Given the description of an element on the screen output the (x, y) to click on. 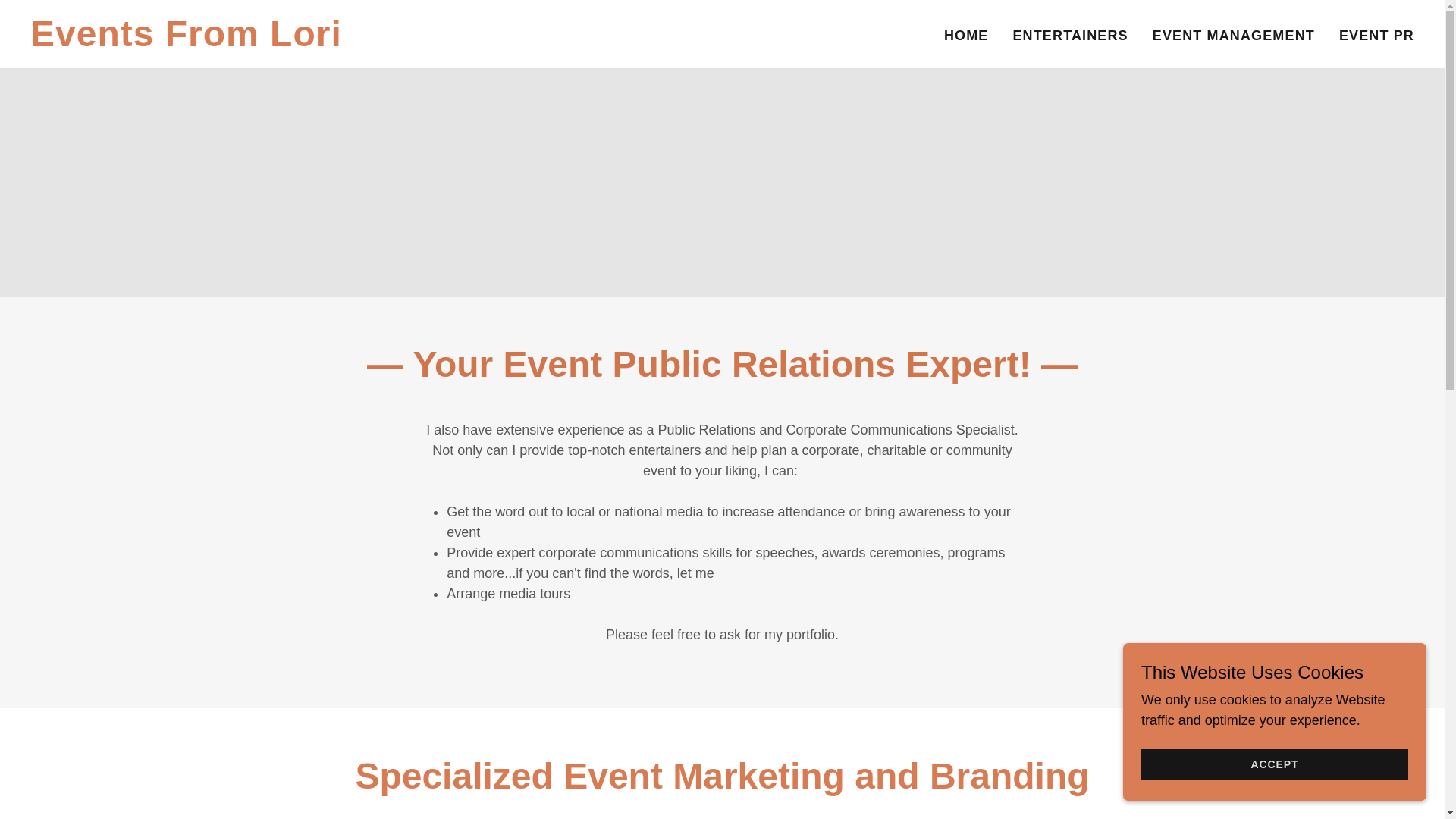
Events From Lori (272, 41)
ACCEPT (272, 41)
ENTERTAINERS (1274, 764)
EVENT PR (1069, 35)
EVENT MANAGEMENT (1376, 35)
HOME (1233, 35)
